Given the description of an element on the screen output the (x, y) to click on. 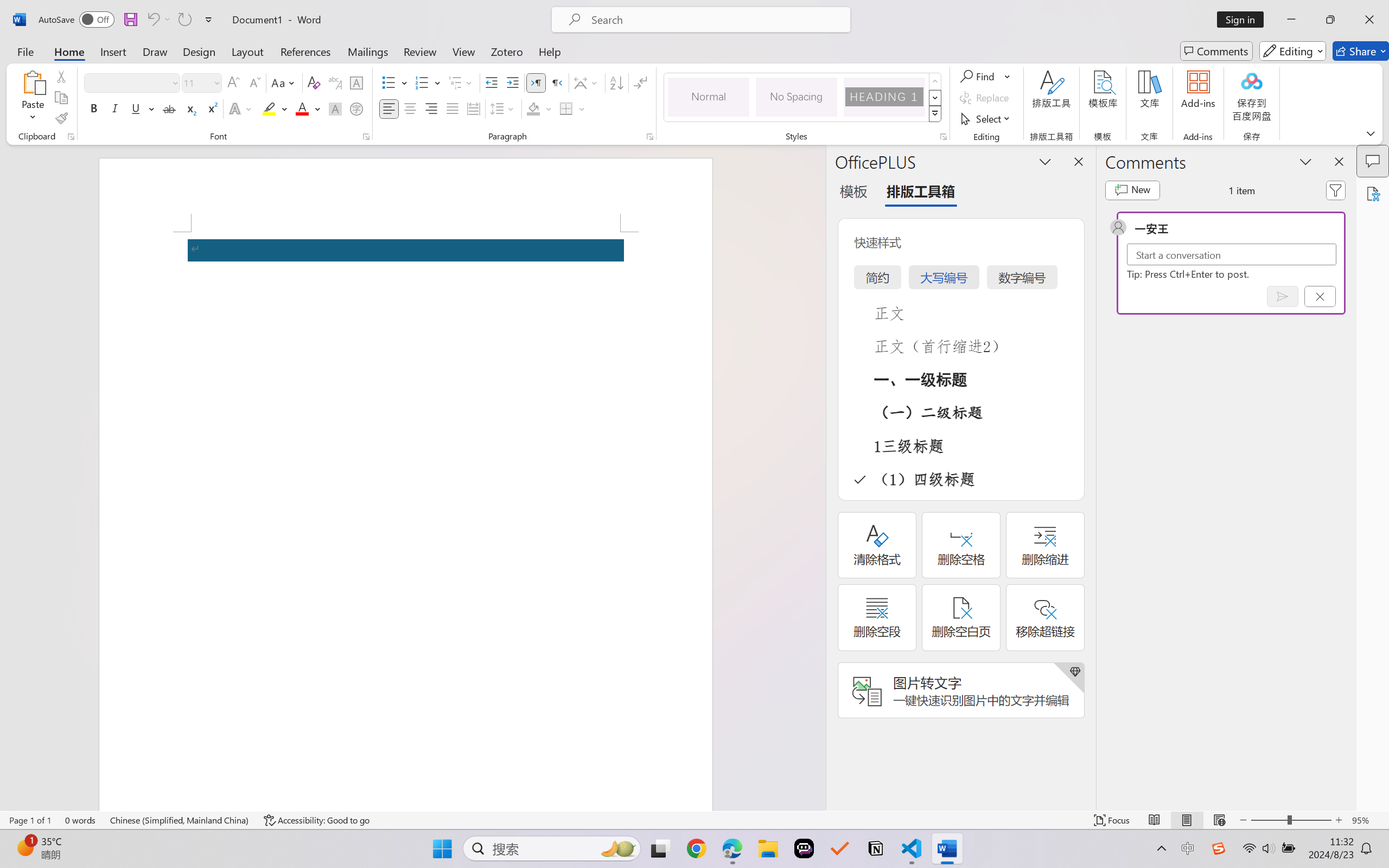
Language Chinese (Simplified, Mainland China) (179, 819)
